Given the description of an element on the screen output the (x, y) to click on. 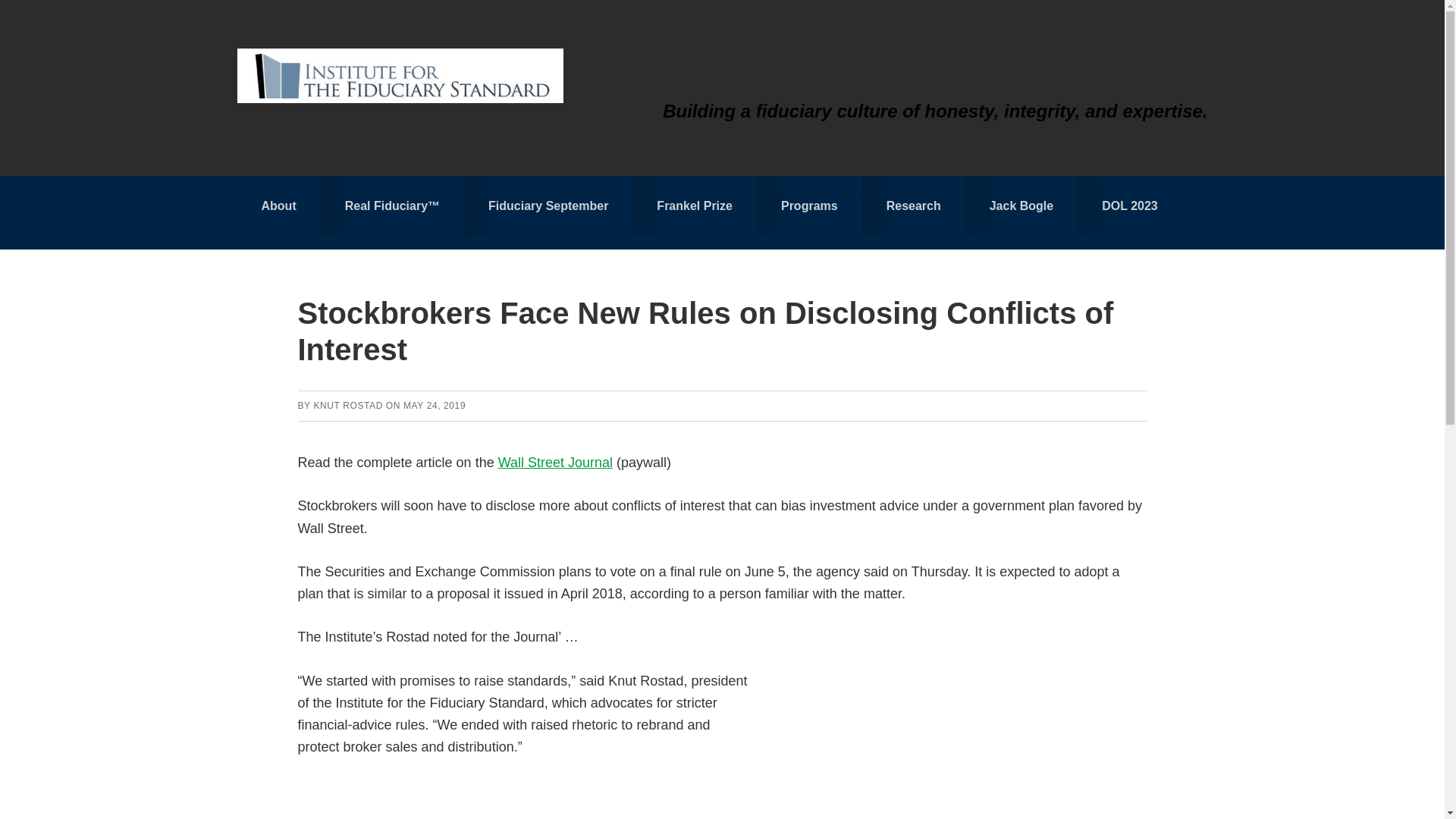
Fiduciary September (547, 206)
The Institute for the Fiduciary Standard (398, 75)
Frankel Prize (694, 206)
About (277, 212)
